Given the description of an element on the screen output the (x, y) to click on. 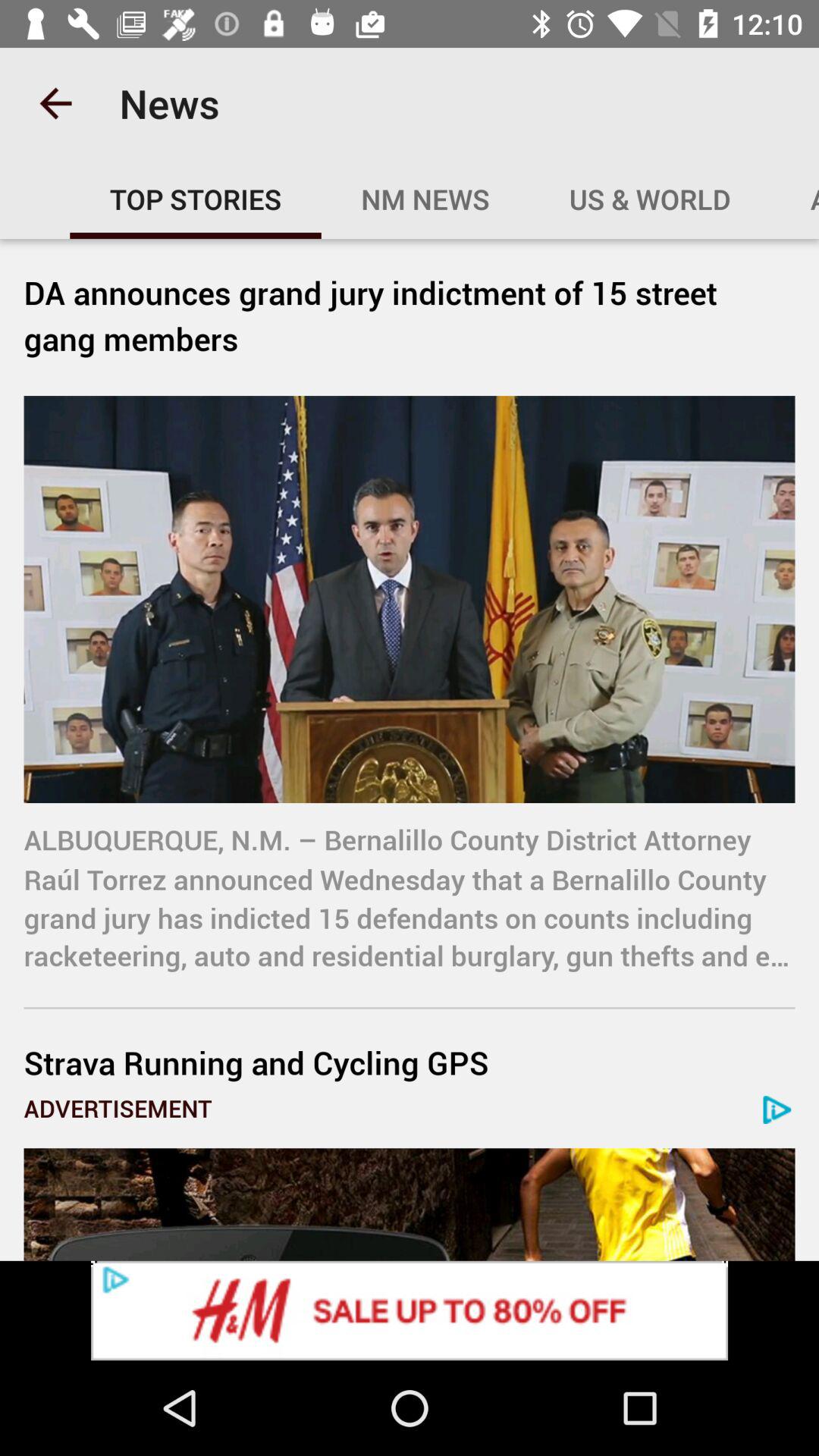
turn on item below albuquerque n m (409, 1062)
